Given the description of an element on the screen output the (x, y) to click on. 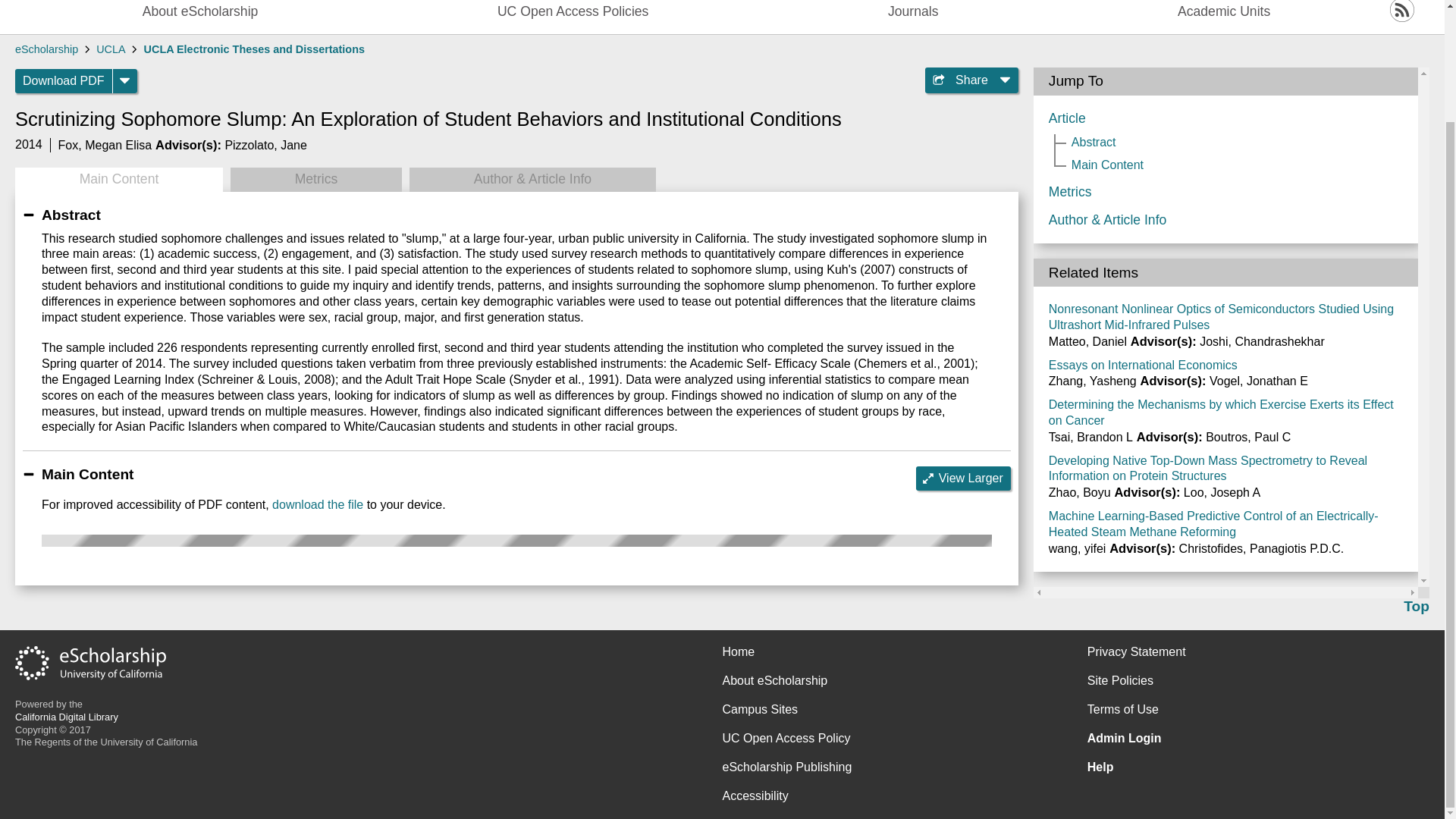
Academic Units (1224, 13)
UC Open Access Policies (572, 13)
Download PDF (63, 80)
About eScholarship (200, 13)
Journals (913, 13)
eScholarship (46, 49)
View Larger (962, 478)
Pizzolato, Jane (265, 144)
UCLA (110, 49)
Fox, Megan Elisa (105, 144)
Metrics (315, 179)
UCLA Electronic Theses and Dissertations (254, 49)
Main Content (118, 179)
download the file (317, 504)
